Given the description of an element on the screen output the (x, y) to click on. 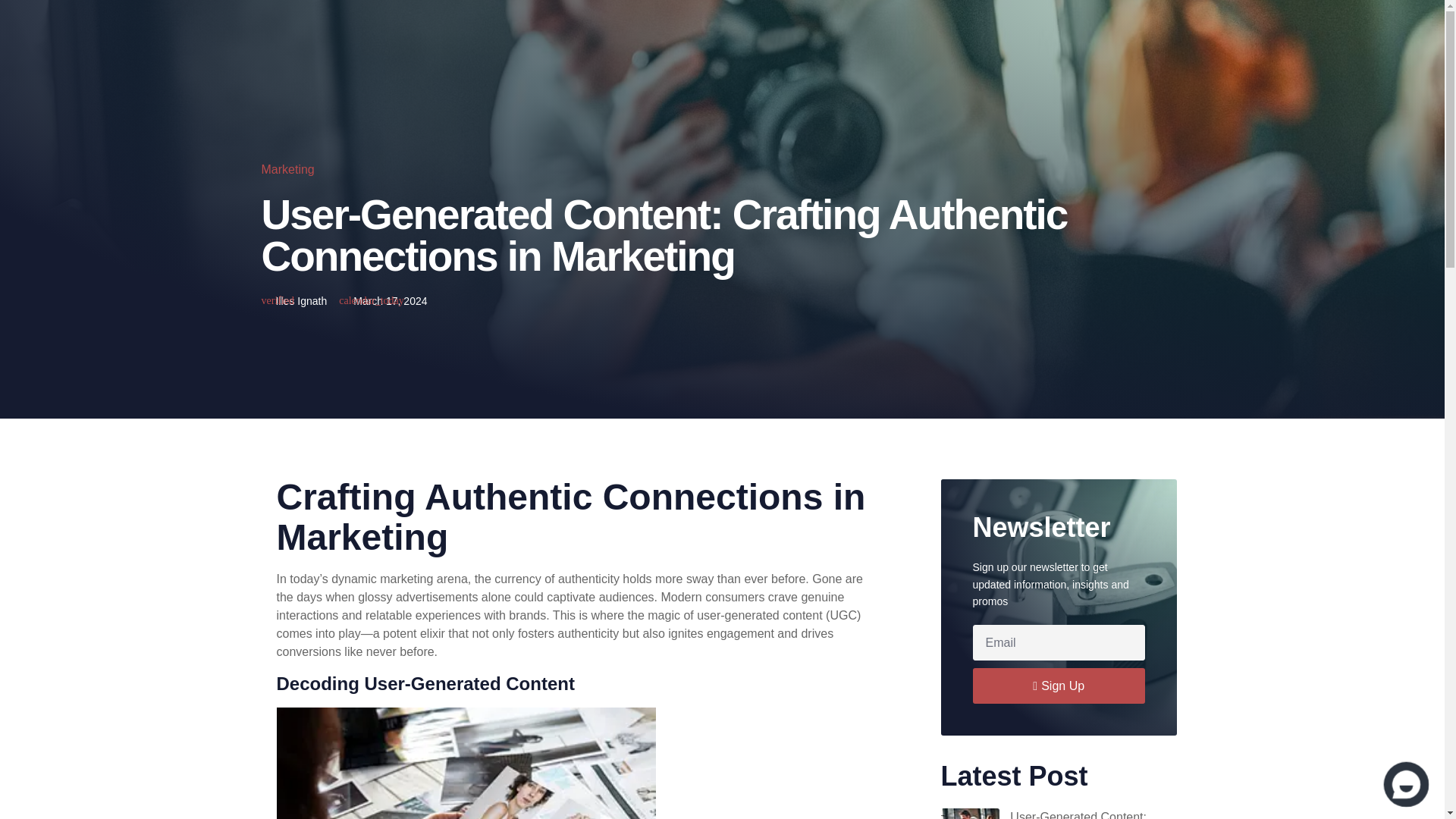
Marketing (287, 169)
Illes Ignath (293, 300)
March 17, 2024 (382, 300)
Sign Up (1058, 685)
